Given the description of an element on the screen output the (x, y) to click on. 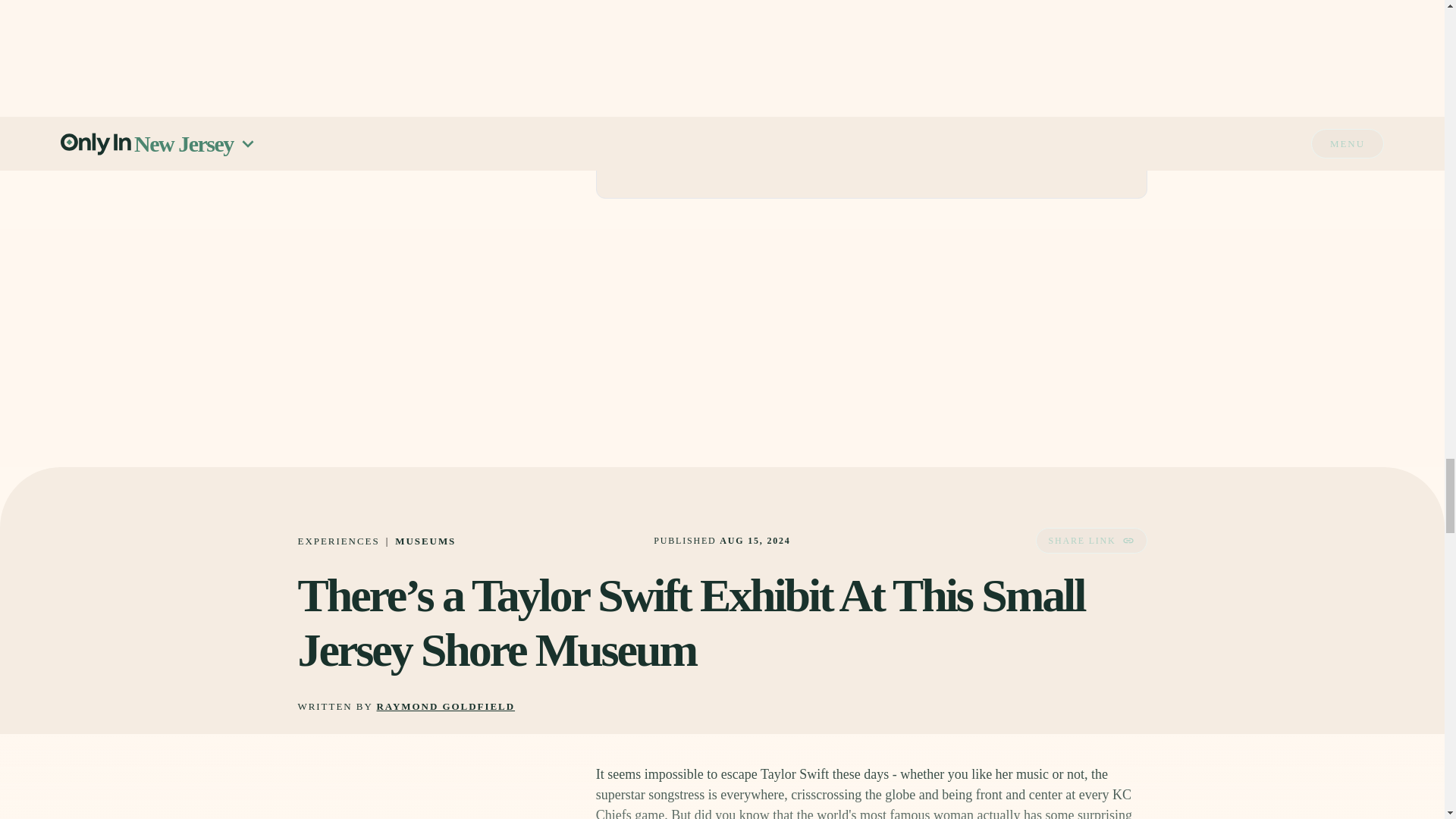
RAYMOND GOLDFIELD (446, 706)
SHARE LINK (1091, 540)
MUSEUMS (424, 541)
EXPERIENCES (337, 541)
SUBSCRIBE (1075, 147)
CHOOSE YOUR STATE (871, 102)
